Given the description of an element on the screen output the (x, y) to click on. 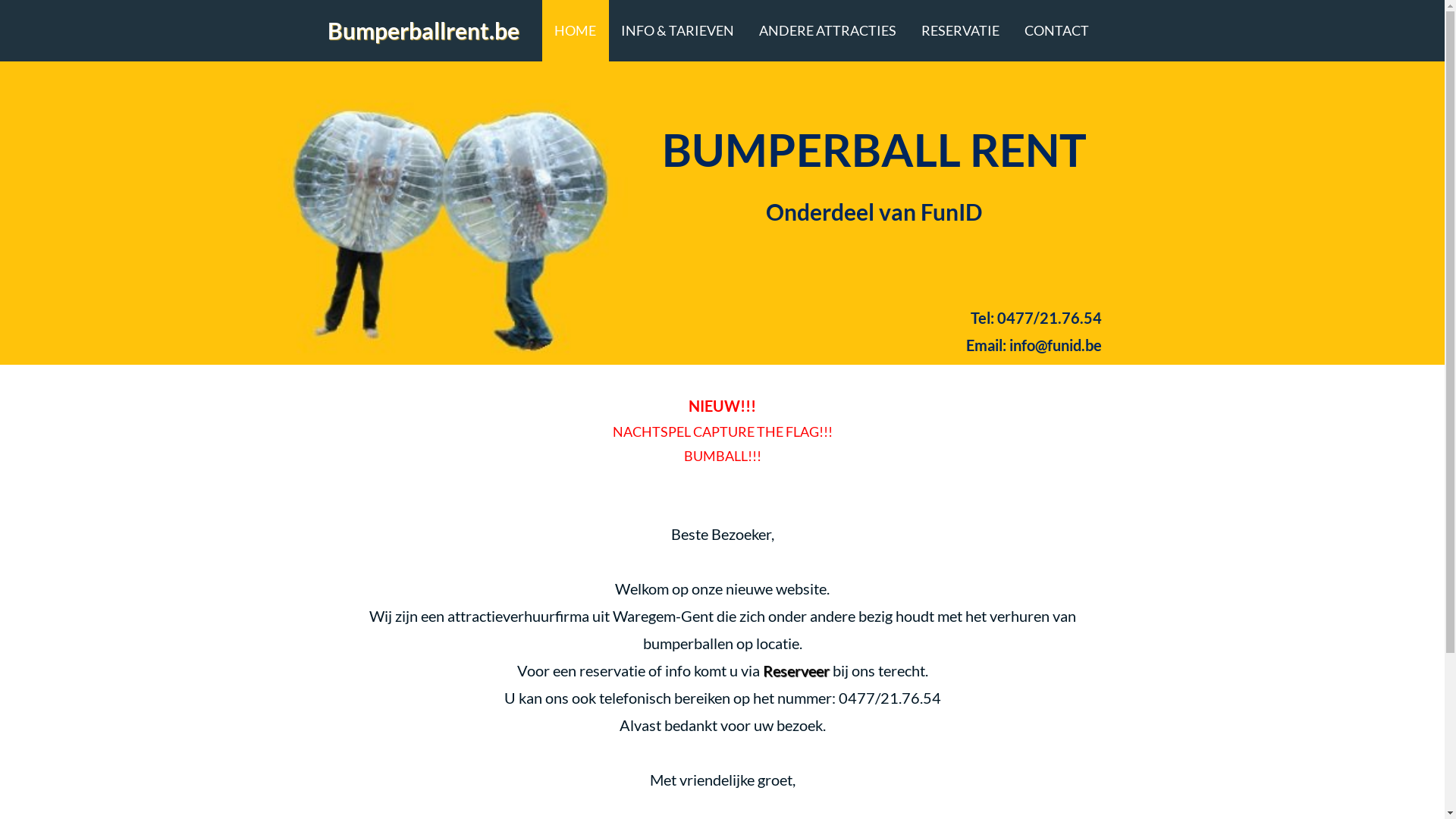
CONTACT Element type: text (1056, 30)
RESERVATIE Element type: text (959, 30)
INFO & TARIEVEN Element type: text (677, 30)
ANDERE ATTRACTIES Element type: text (827, 30)
Reserveer Element type: text (795, 670)
HOME Element type: text (574, 30)
